Given the description of an element on the screen output the (x, y) to click on. 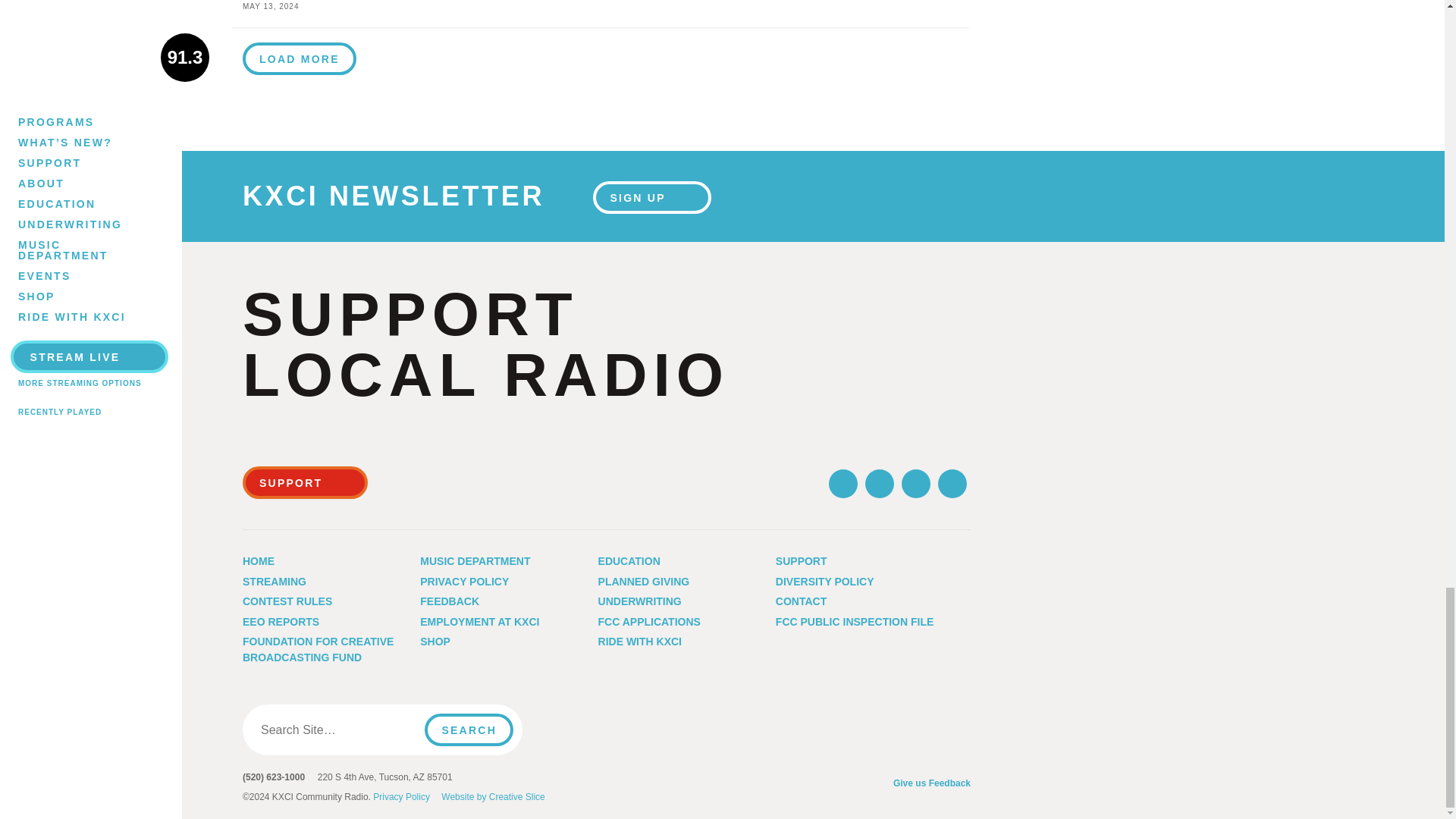
Search (469, 729)
